Given the description of an element on the screen output the (x, y) to click on. 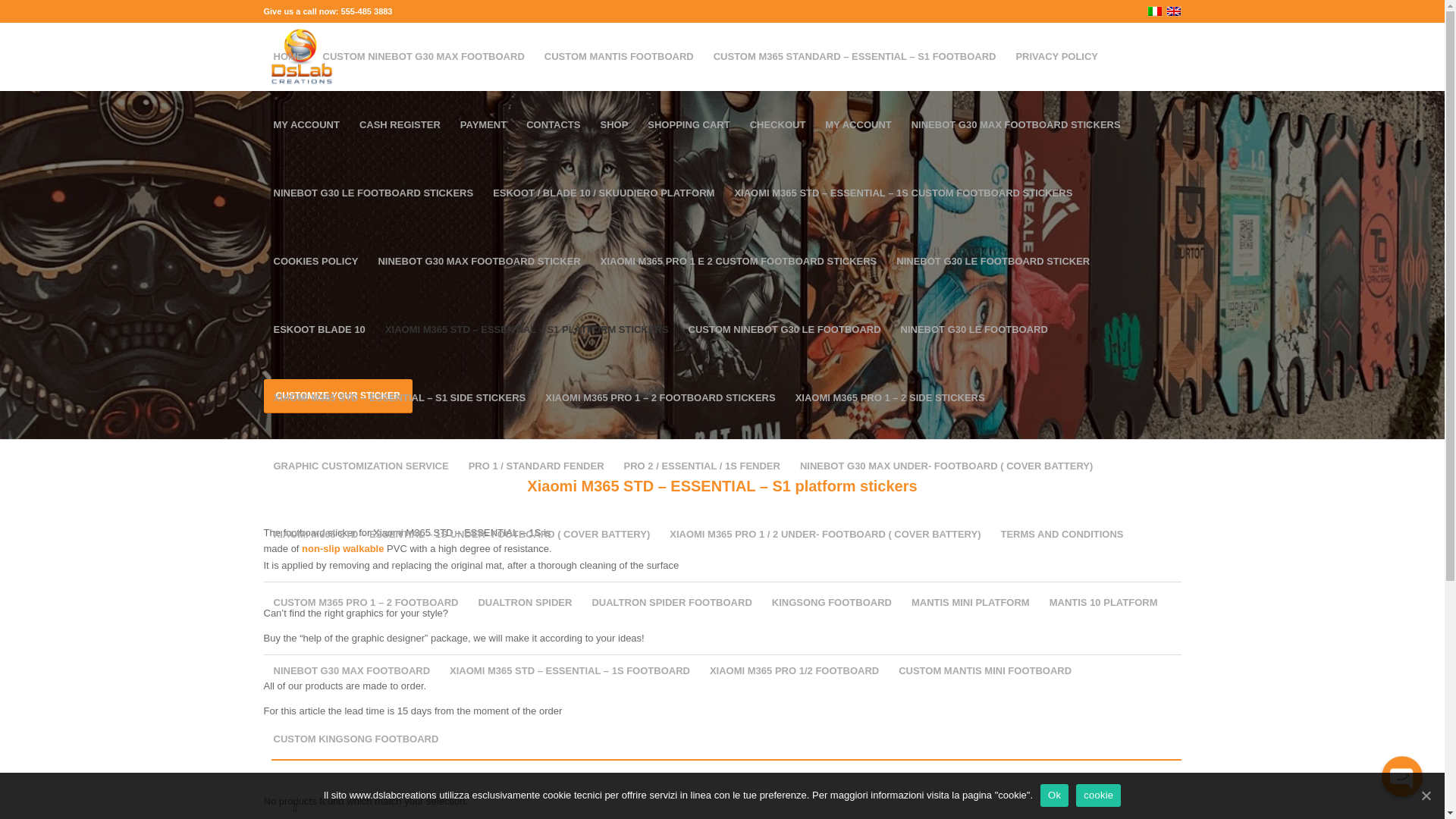
CONTACTS (552, 124)
CUSTOM MANTIS FOOTBOARD (618, 56)
NINEBOT G30 MAX FOOTBOARD STICKER (478, 261)
Italiano (1154, 10)
CASH REGISTER (399, 124)
CHECKOUT (777, 124)
NINEBOT G30 LE FOOTBOARD (974, 329)
PAYMENT (482, 124)
GRAPHIC CUSTOMIZATION SERVICE (360, 466)
COOKIES POLICY (315, 261)
TERMS AND CONDITIONS (1061, 534)
HOME (288, 56)
CUSTOM NINEBOT G30 MAX FOOTBOARD (423, 56)
NINEBOT G30 MAX FOOTBOARD STICKERS (1016, 124)
English (1173, 10)
